Given the description of an element on the screen output the (x, y) to click on. 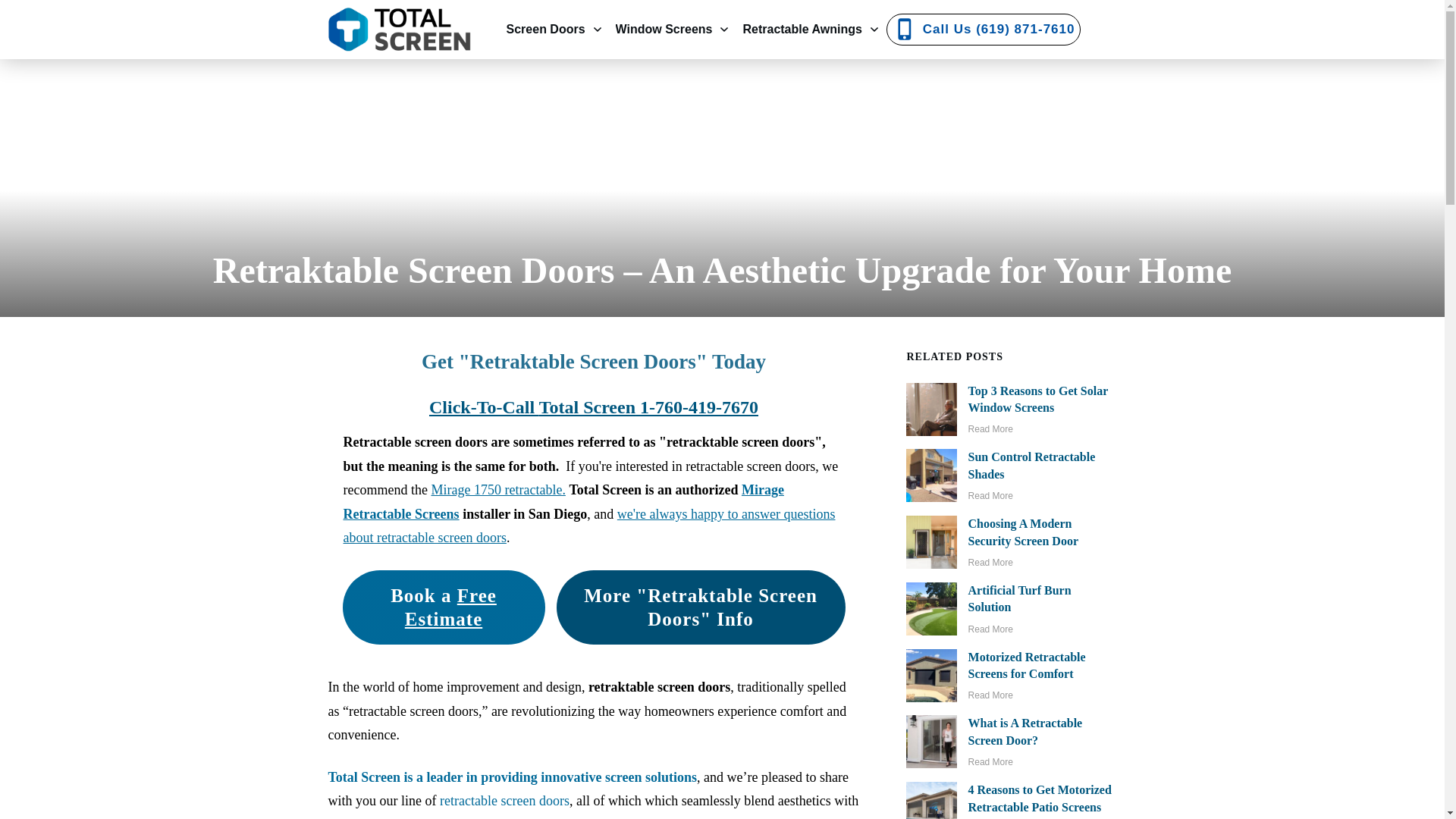
Book a Free Estimate (443, 607)
Screen Doors (555, 29)
Sun Control Retractable Shades (1032, 464)
Artificial Turf Burn Solution (1019, 598)
retractable screen doors (504, 800)
4 Reasons to Get Motorized Retractable Patio Screens (1040, 797)
Click-To-Call Total Screen 1-760-419-7670 (593, 406)
Mirage Retractable Screens (562, 501)
Mirage 1750 retractable. (497, 489)
Get "Retraktable Screen Doors" Today (593, 361)
Choosing A Modern Security Screen Door (1023, 531)
Top 3 Reasons to Get Solar Window Screens (1038, 399)
What is A Retractable Screen Door? (1025, 731)
